Given the description of an element on the screen output the (x, y) to click on. 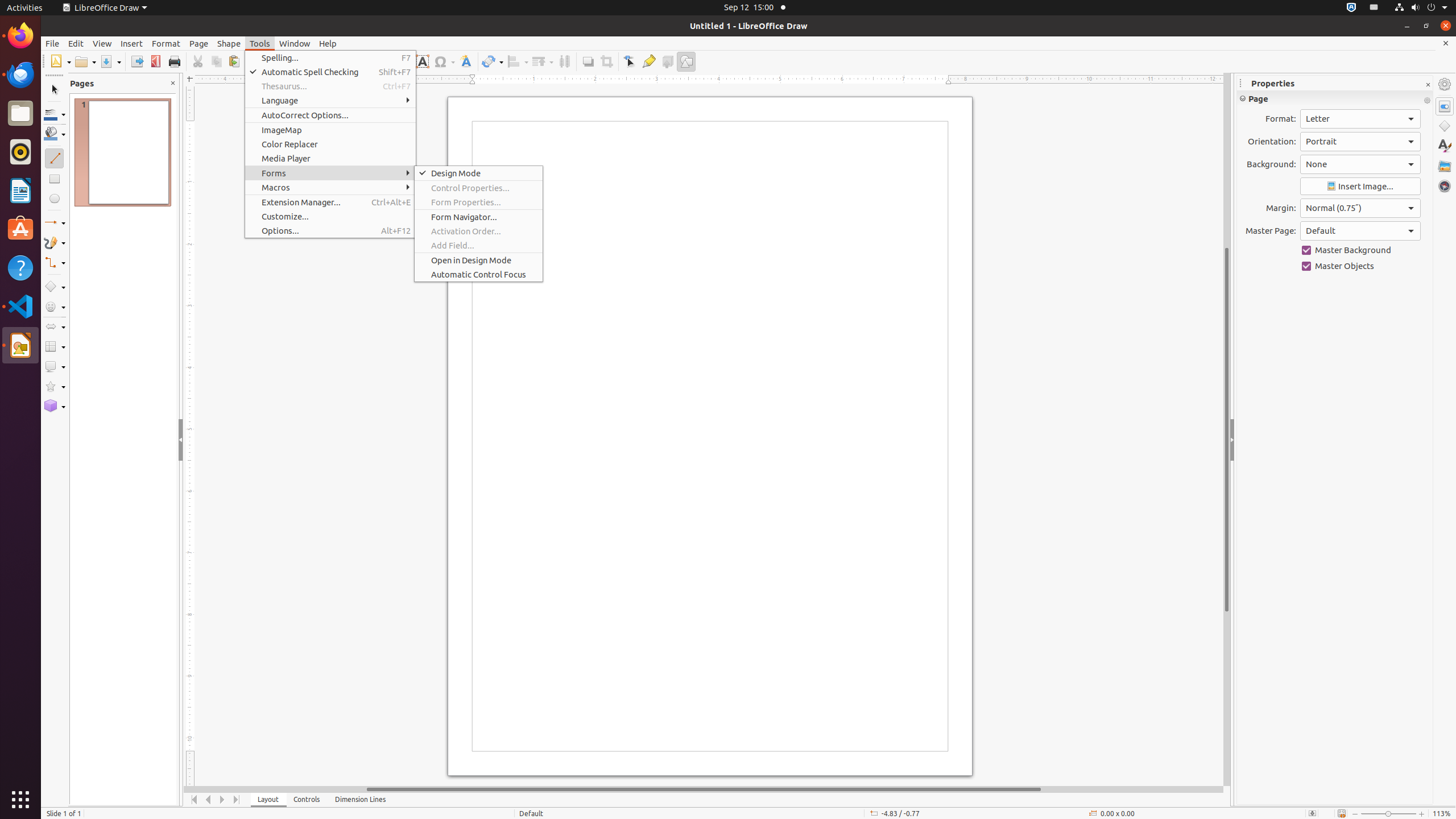
Edit Points Element type: push-button (629, 61)
Print Element type: push-button (173, 61)
Spelling... Element type: menu-item (330, 57)
Vertical scroll bar Element type: scroll-bar (1226, 429)
Page Element type: menu (198, 43)
